Given the description of an element on the screen output the (x, y) to click on. 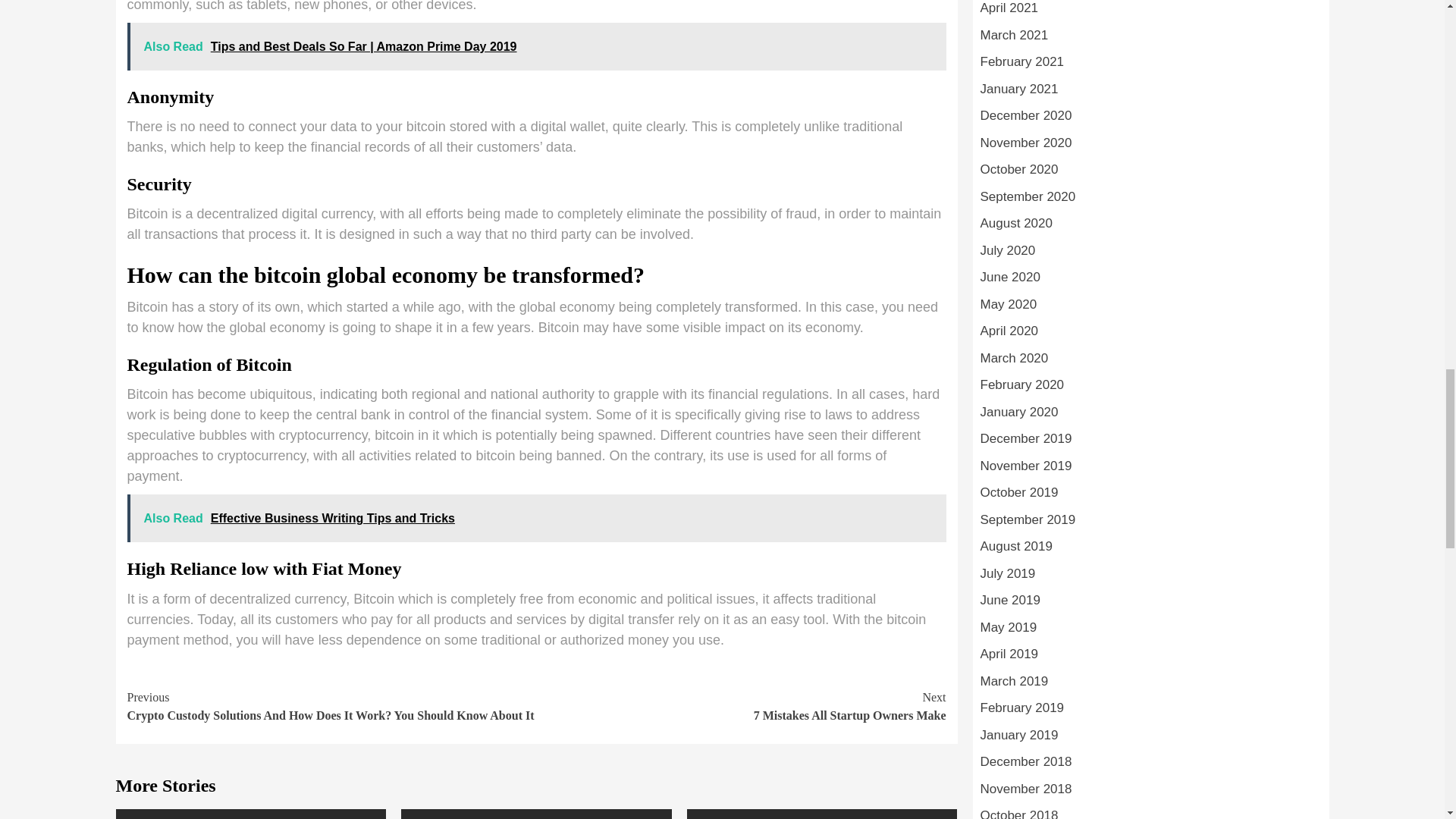
Also Read  Effective Business Writing Tips and Tricks (741, 706)
